Given the description of an element on the screen output the (x, y) to click on. 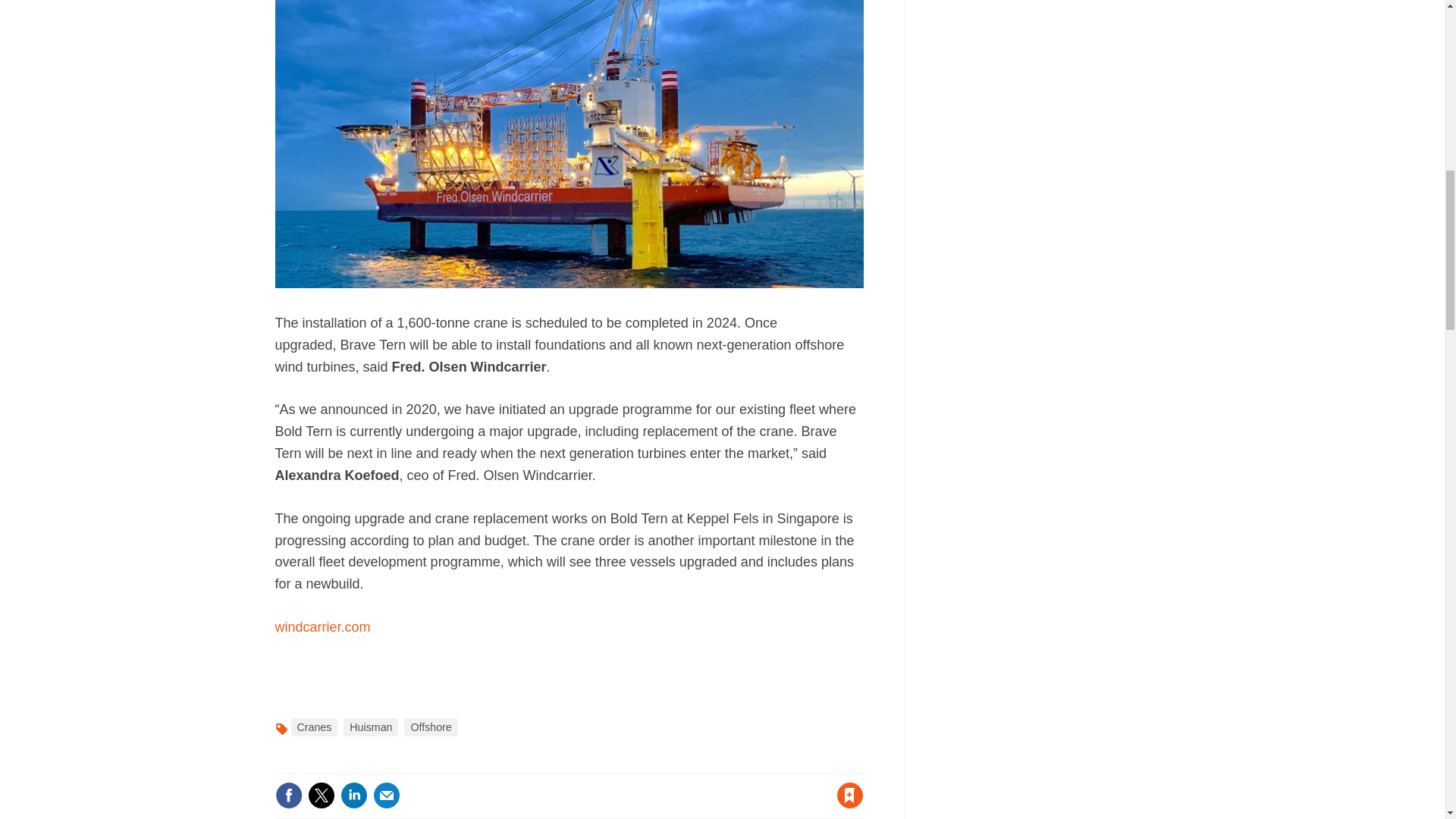
Email this article (386, 795)
Share this on Linked in (352, 795)
Share this on Facebook (288, 795)
Share this on Twitter (320, 795)
